Given the description of an element on the screen output the (x, y) to click on. 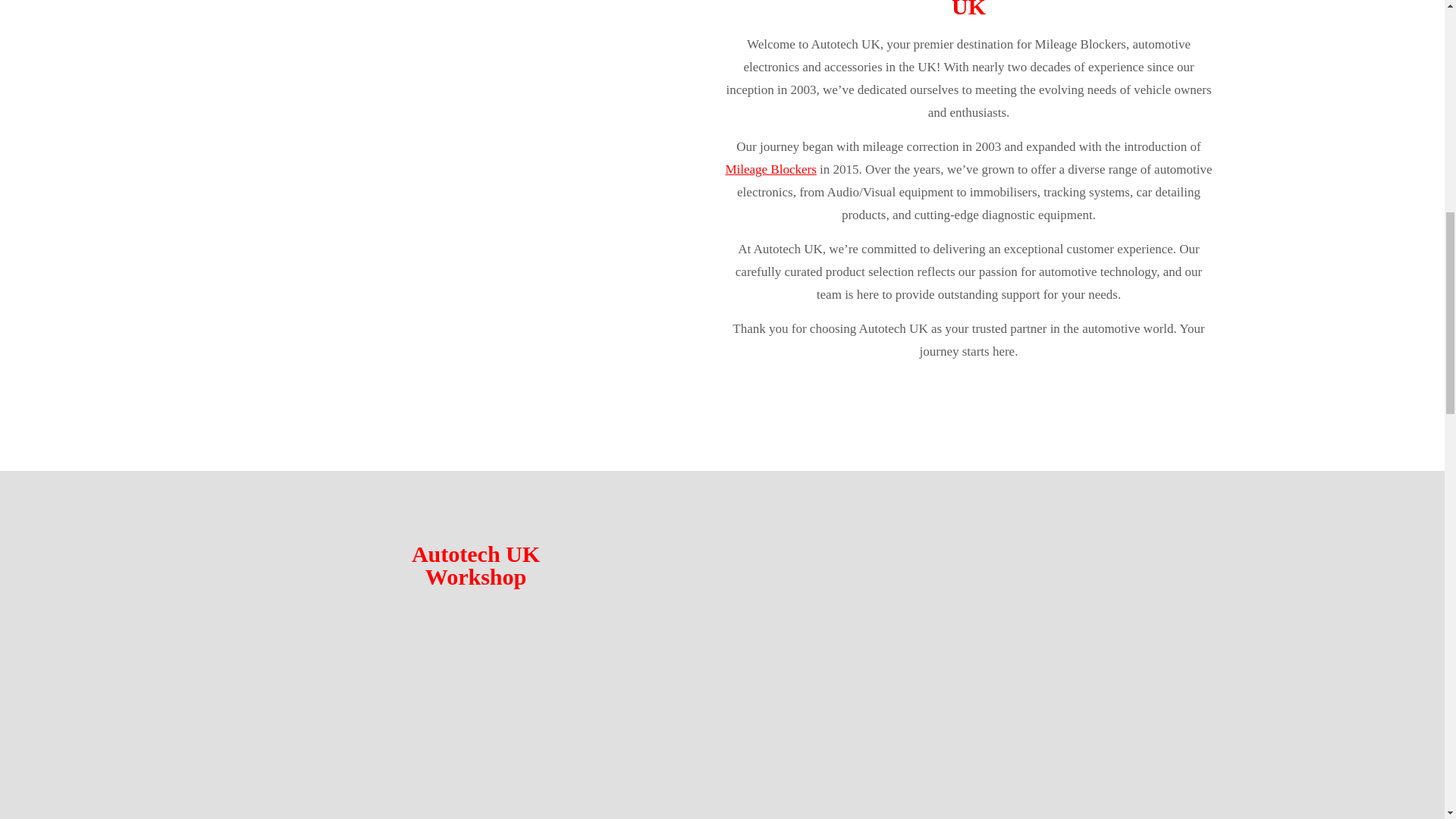
See Our Shop (968, 427)
Mileage Blockers (770, 169)
